Given the description of an element on the screen output the (x, y) to click on. 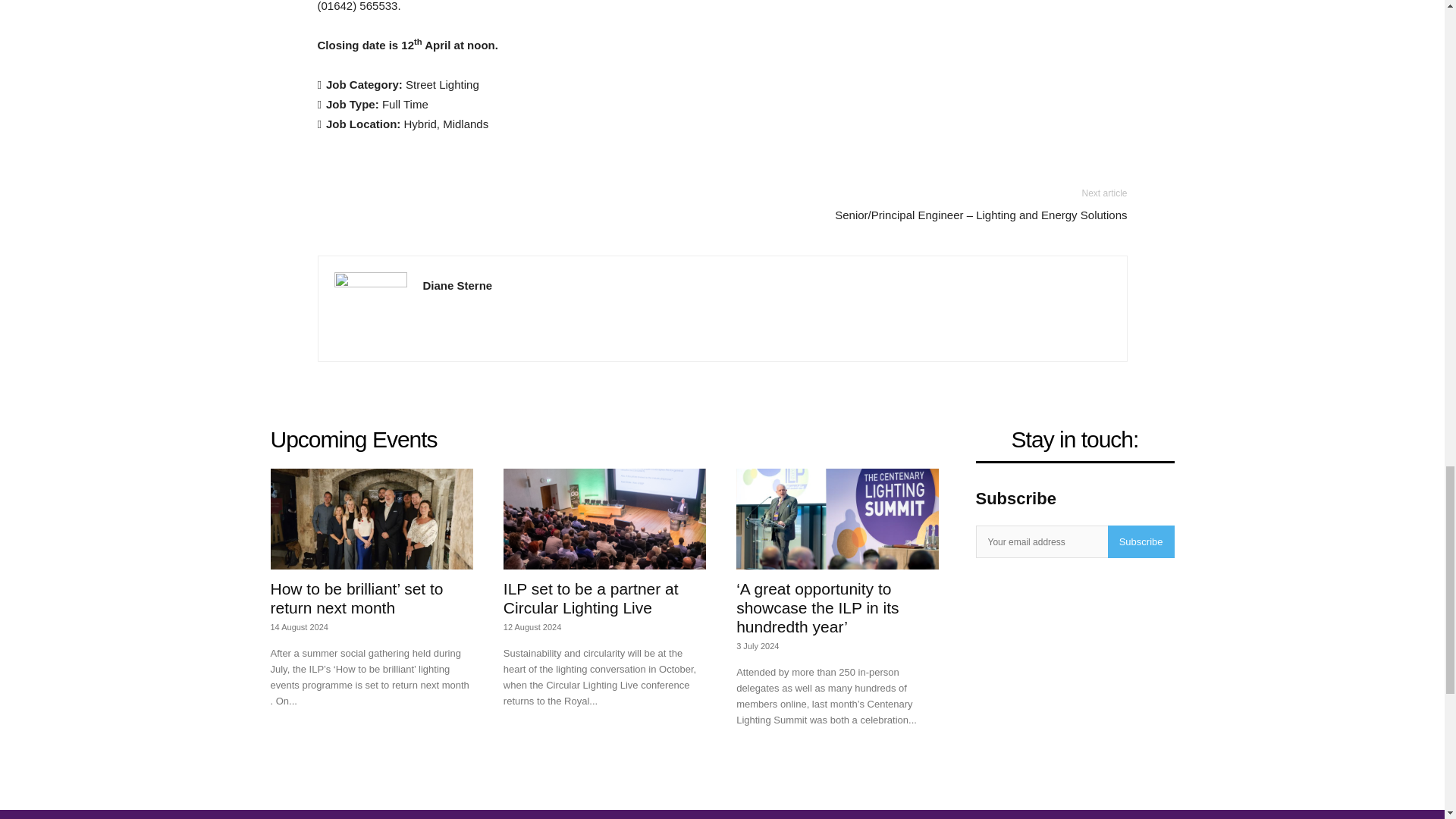
ILP set to be a partner at Circular Lighting Live (590, 597)
ILP set to be a partner at Circular Lighting Live (604, 519)
Diane Sterne (458, 285)
Subscribe (1141, 541)
ILP set to be a partner at Circular Lighting Live (590, 597)
